Given the description of an element on the screen output the (x, y) to click on. 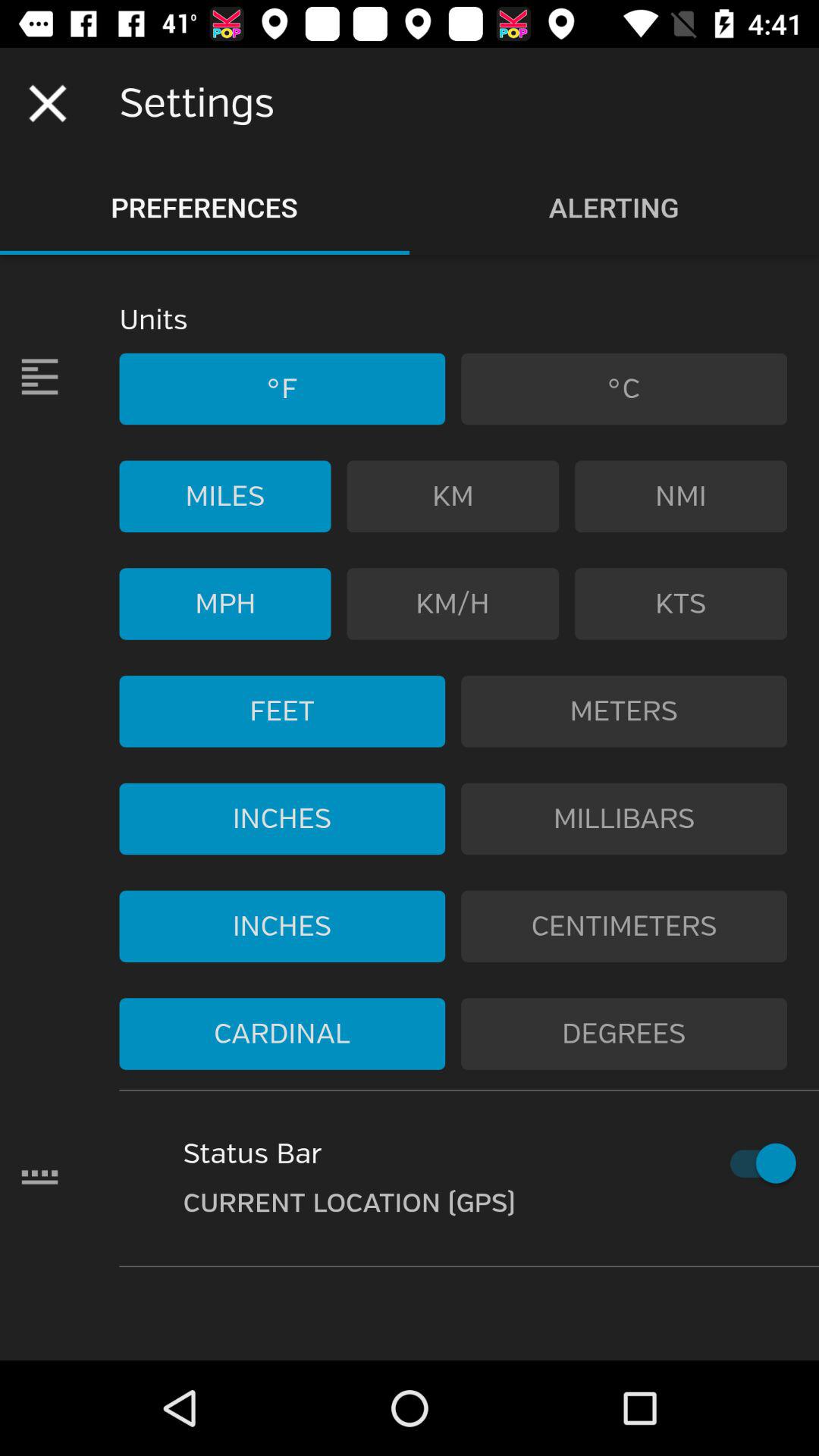
turn off the icon to the right of cardinal icon (624, 1033)
